Given the description of an element on the screen output the (x, y) to click on. 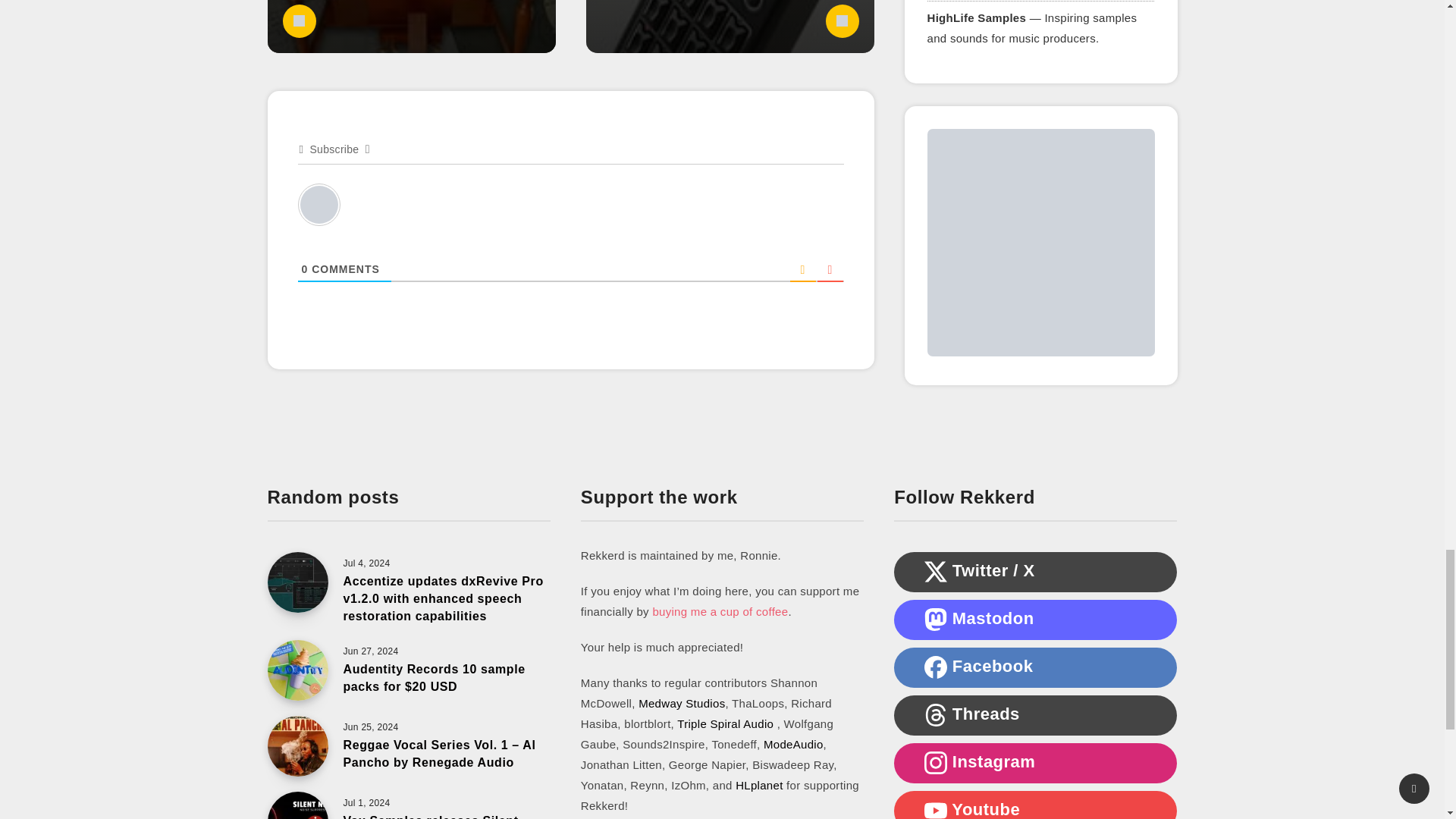
YouTube (935, 809)
Mastodon (935, 619)
Threads (935, 714)
Facebook (935, 667)
Instagram (935, 762)
X (935, 571)
